Given the description of an element on the screen output the (x, y) to click on. 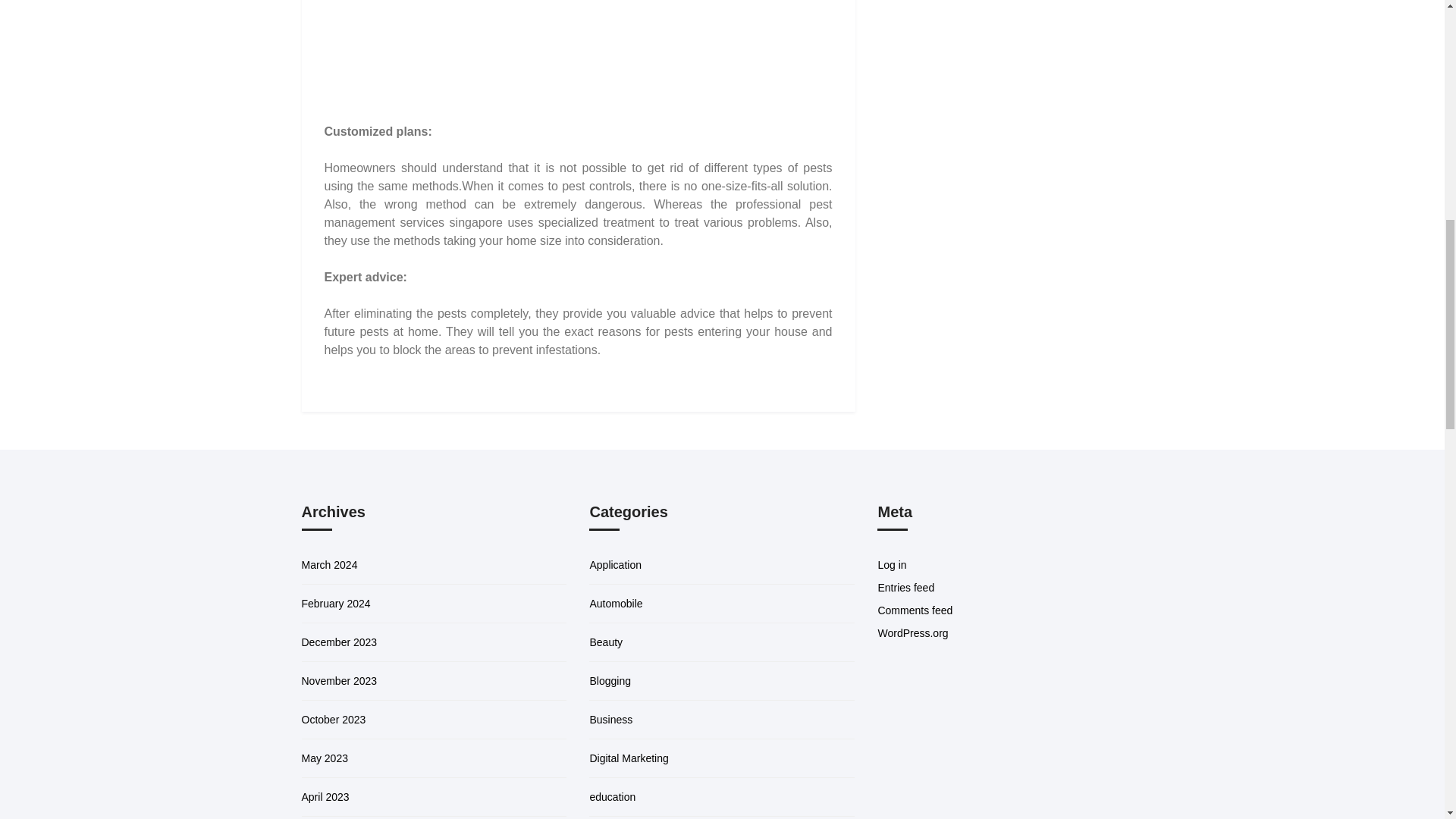
February 2024 (336, 603)
October 2023 (333, 719)
November 2023 (339, 680)
March 2024 (329, 564)
December 2023 (339, 642)
May 2023 (324, 758)
April 2023 (325, 797)
